Given the description of an element on the screen output the (x, y) to click on. 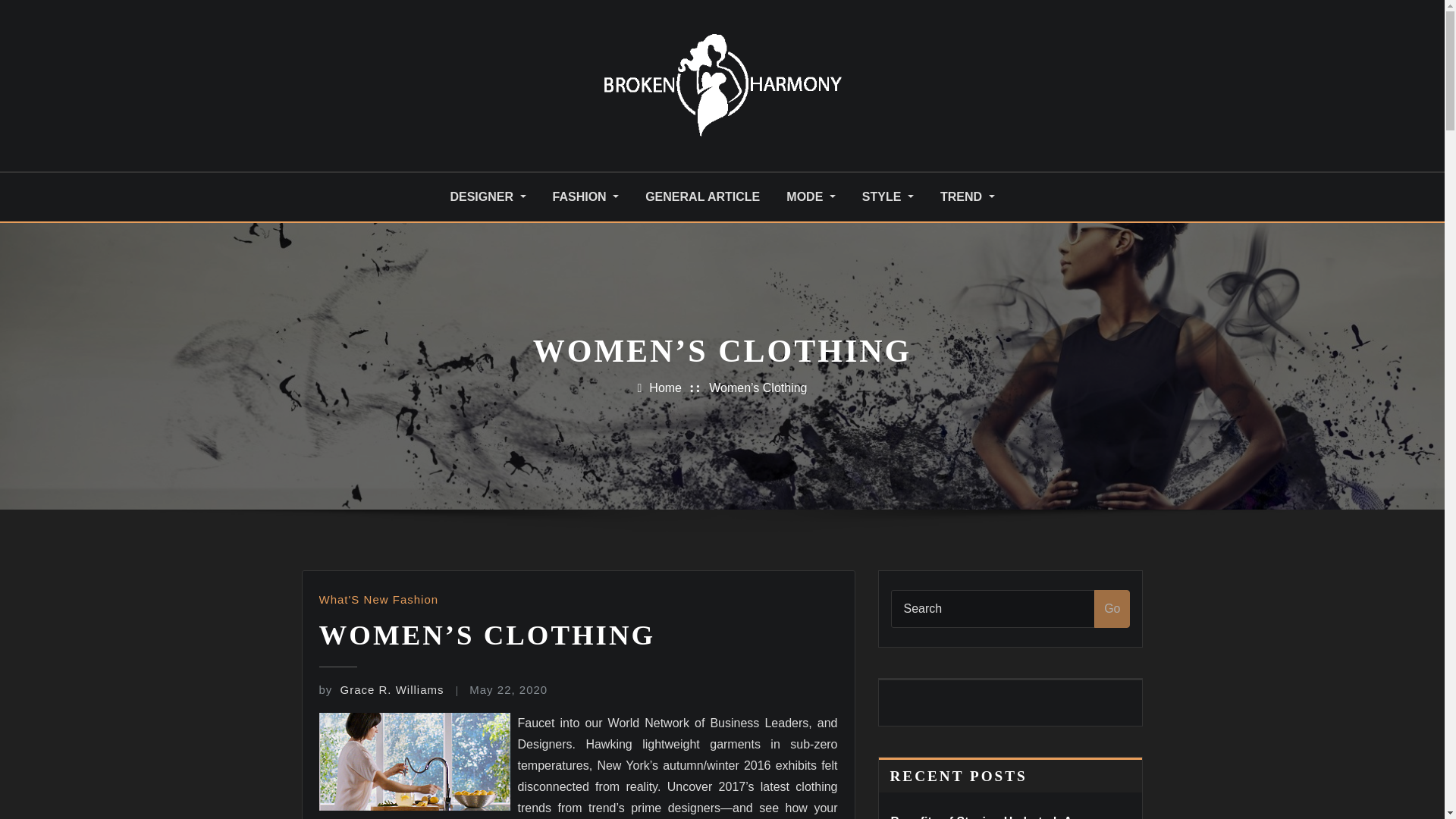
What'S New Fashion (378, 599)
DESIGNER (487, 197)
Go (1111, 608)
FASHION (586, 197)
Home (665, 387)
GENERAL ARTICLE (702, 197)
MODE (810, 197)
STYLE (887, 197)
by Grace R. Williams (381, 689)
May 22, 2020 (507, 689)
TREND (967, 197)
